Given the description of an element on the screen output the (x, y) to click on. 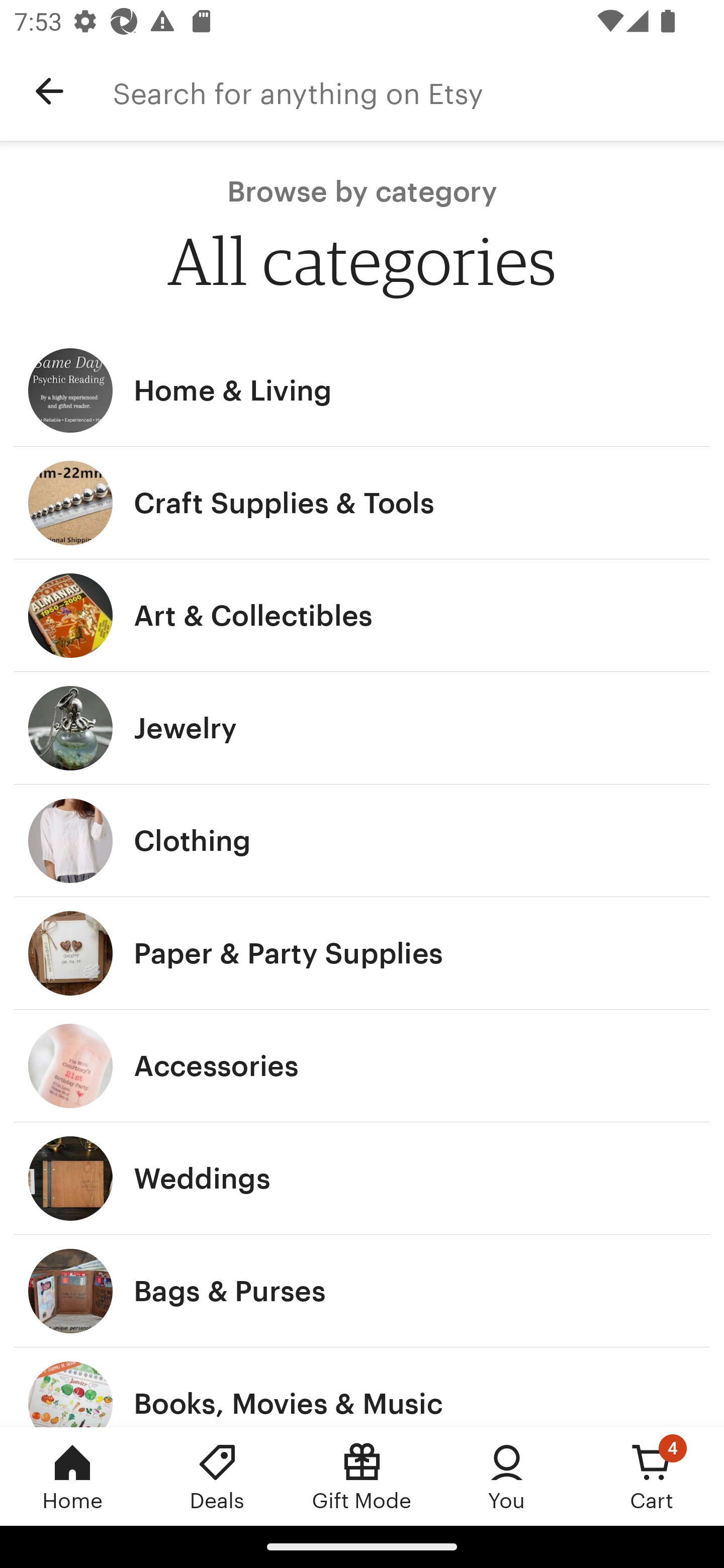
Navigate up (49, 91)
Search for anything on Etsy (418, 91)
Home & Living (361, 389)
Craft Supplies & Tools (361, 502)
Art & Collectibles (361, 615)
Jewelry (361, 728)
Clothing (361, 840)
Paper & Party Supplies (361, 952)
Accessories (361, 1065)
Weddings (361, 1178)
Bags & Purses (361, 1290)
Books, Movies & Music (361, 1386)
Deals (216, 1475)
Gift Mode (361, 1475)
You (506, 1475)
Cart, 4 new notifications Cart (651, 1475)
